Given the description of an element on the screen output the (x, y) to click on. 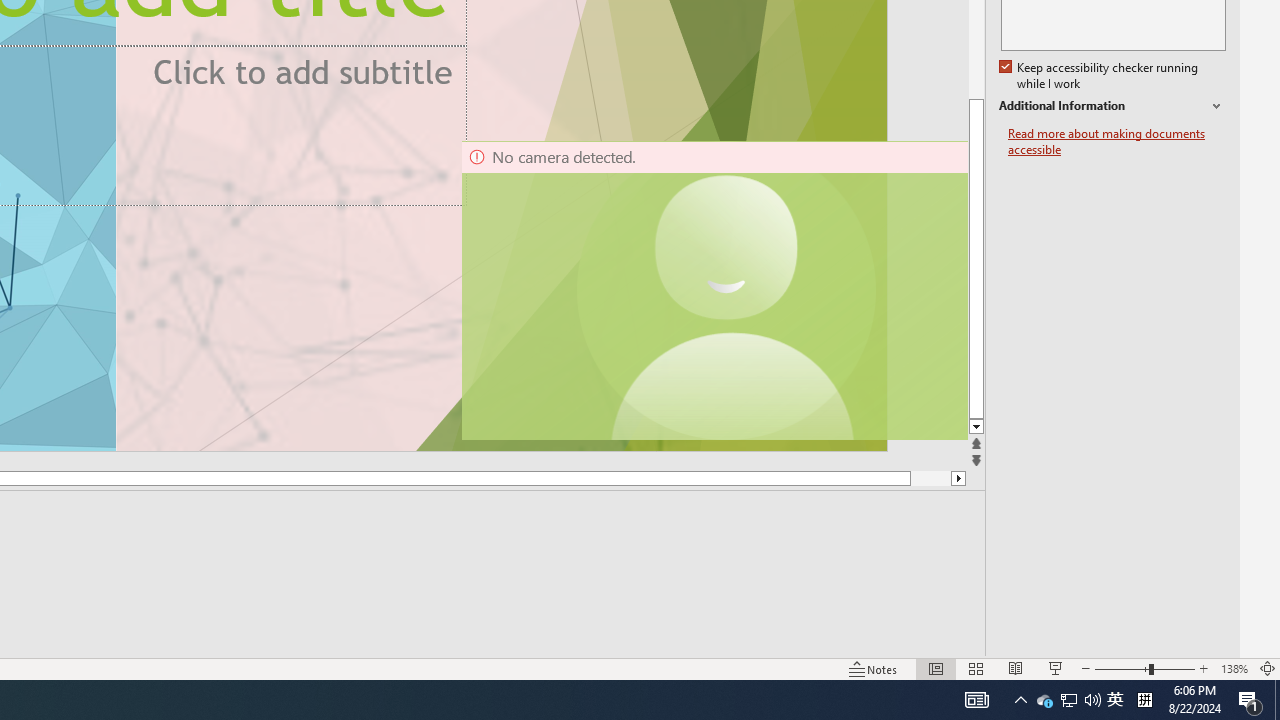
Camera 11, No camera detected. (727, 290)
Zoom 138% (1234, 668)
Camera 14, No camera detected. (713, 290)
